Given the description of an element on the screen output the (x, y) to click on. 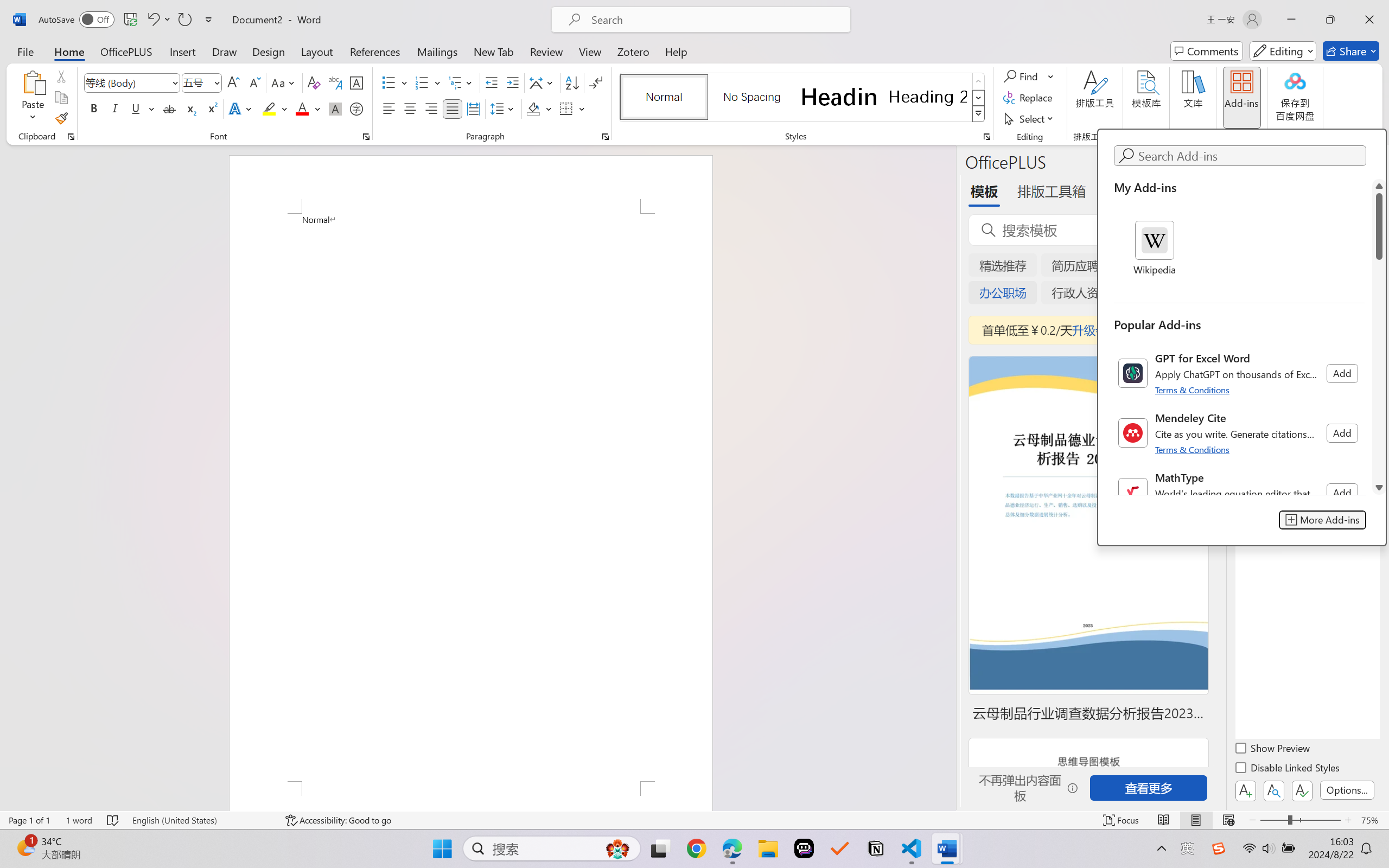
Heading 2 (927, 96)
Borders (566, 108)
MathType (1239, 492)
Bold (94, 108)
Mode (1283, 50)
Shrink Font (253, 82)
Focus  (1121, 819)
Font Color (308, 108)
Line up (1379, 185)
Increase Indent (512, 82)
